Given the description of an element on the screen output the (x, y) to click on. 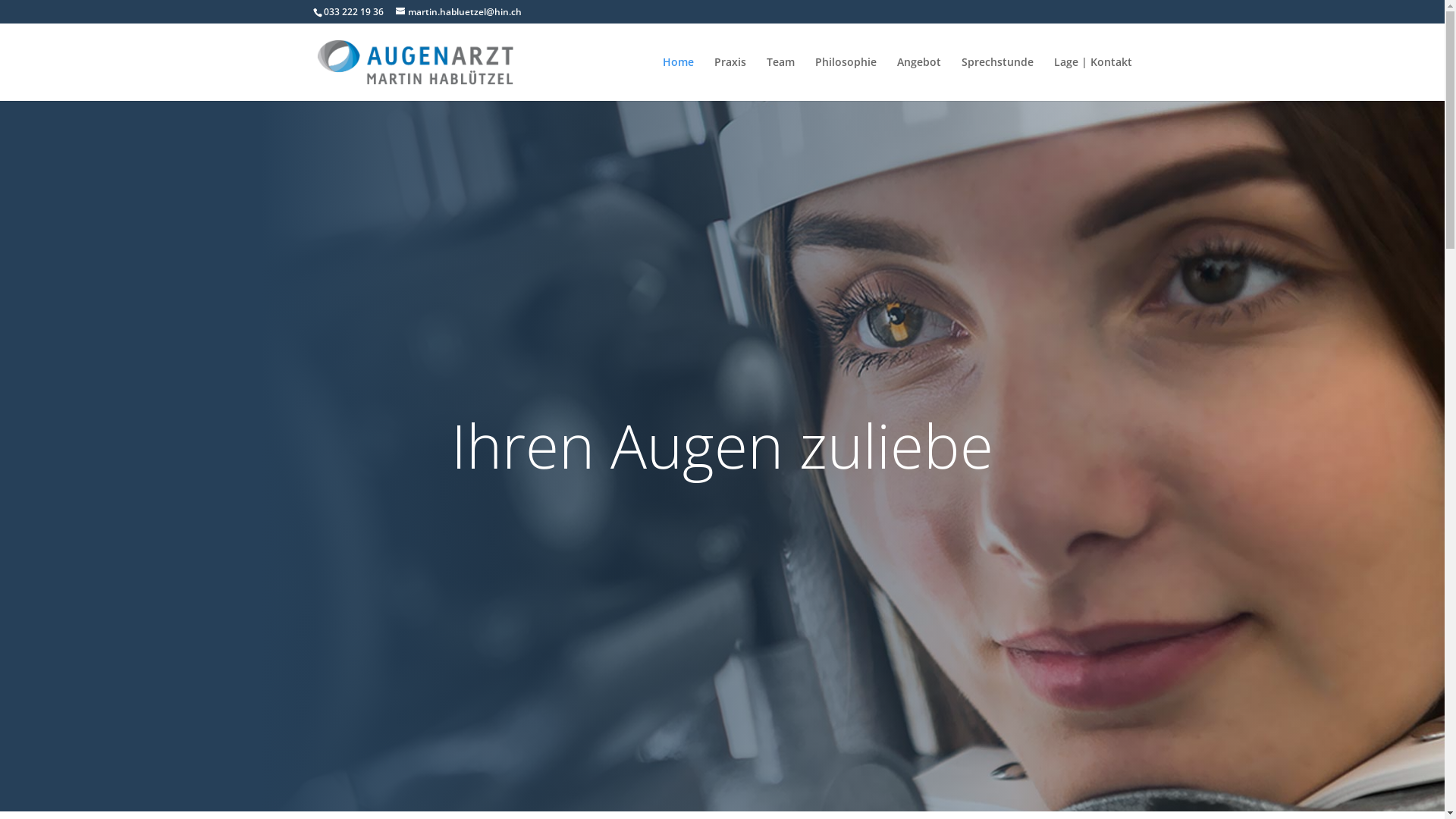
martin.habluetzel@hin.ch Element type: text (458, 11)
Team Element type: text (779, 78)
Praxis Element type: text (730, 78)
Home Element type: text (677, 78)
Lage | Kontakt Element type: text (1093, 78)
Angebot Element type: text (918, 78)
